Given the description of an element on the screen output the (x, y) to click on. 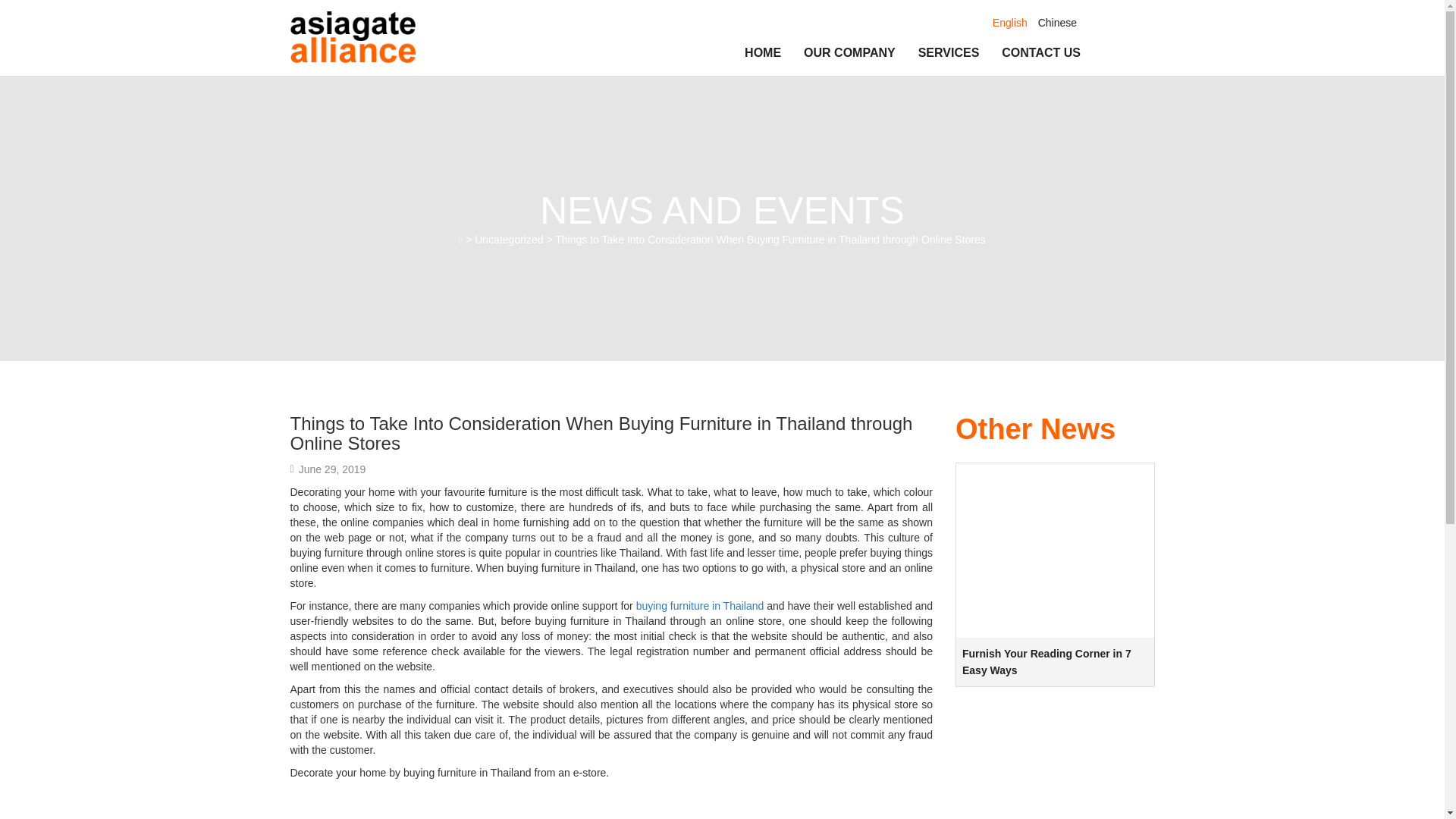
Chinese (1057, 22)
English (1009, 22)
Go to the Uncategorized category archives. (508, 239)
OUR COMPANY (849, 52)
SERVICES (949, 52)
Uncategorized (508, 239)
buying furniture in Thailand (700, 605)
HOME (762, 52)
CONTACT US (1035, 52)
Furnish Your Reading Corner in 7 Easy Ways (1055, 709)
